Given the description of an element on the screen output the (x, y) to click on. 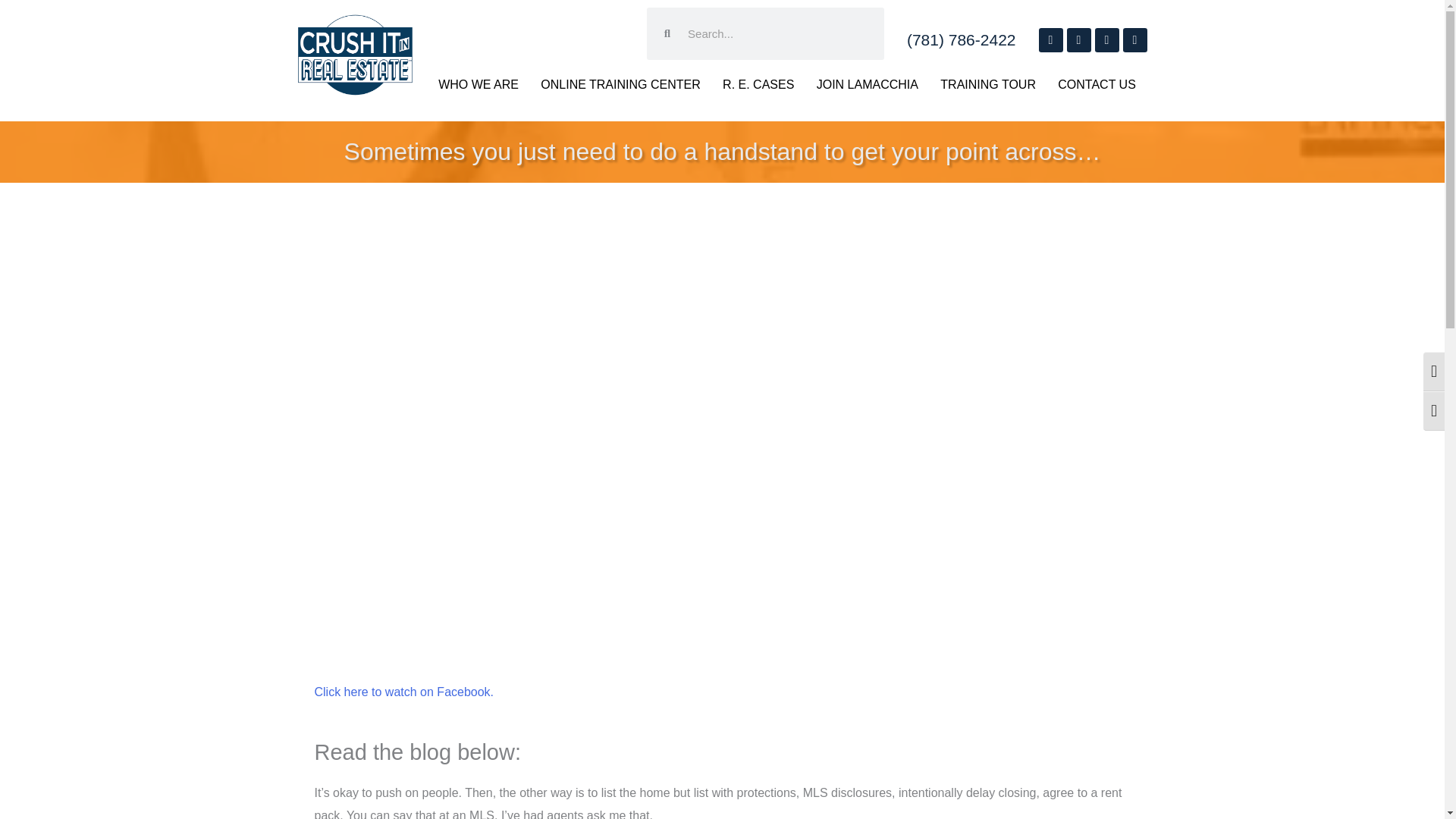
Youtube (1106, 39)
WHO WE ARE (478, 84)
Tiktok (1134, 39)
R. E. CASES (758, 84)
ONLINE TRAINING CENTER (620, 84)
JOIN LAMACCHIA (867, 84)
TRAINING TOUR (988, 84)
CONTACT US (1096, 84)
Instagram (1077, 39)
Facebook-f (1050, 39)
